Given the description of an element on the screen output the (x, y) to click on. 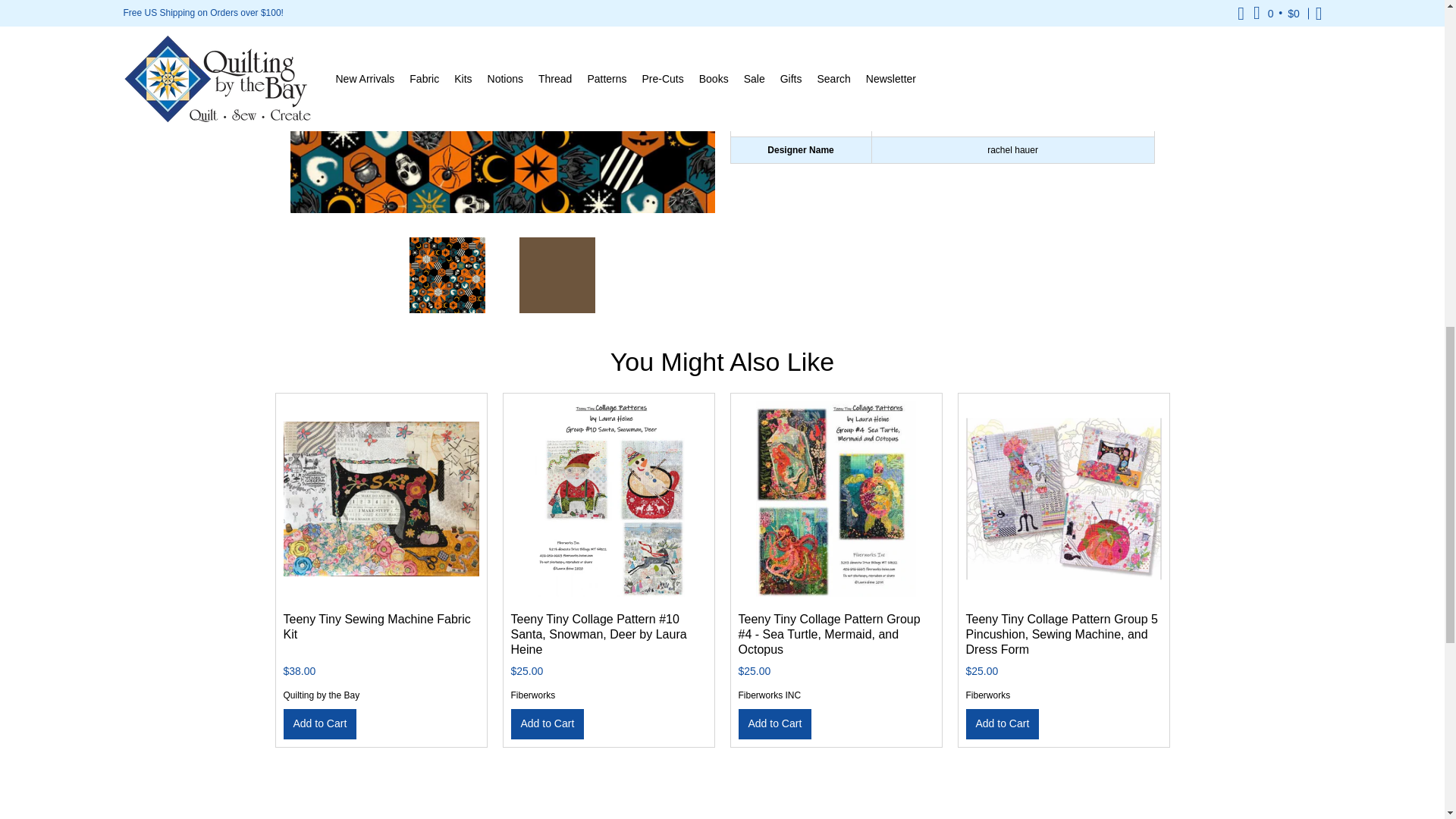
Add to Cart (775, 723)
Add to Cart (319, 723)
Add to Cart (548, 723)
Add to Cart (1002, 723)
